Given the description of an element on the screen output the (x, y) to click on. 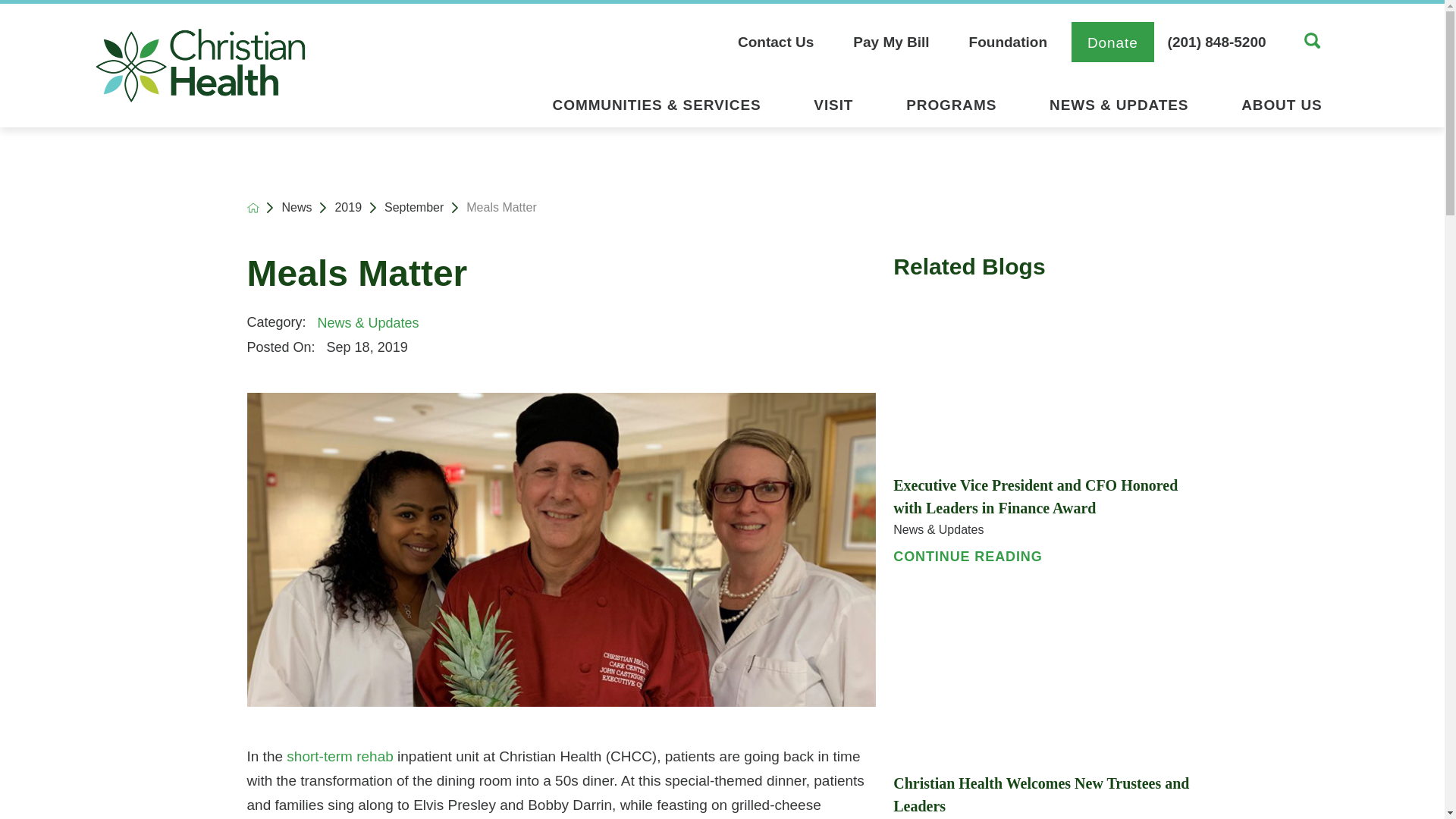
Christian Health (200, 65)
Pay My Bill (890, 42)
VISIT (833, 108)
PROGRAMS (951, 108)
ABOUT US (1281, 108)
Donate (1112, 42)
Contact Us (785, 42)
Foundation (1008, 42)
